Given the description of an element on the screen output the (x, y) to click on. 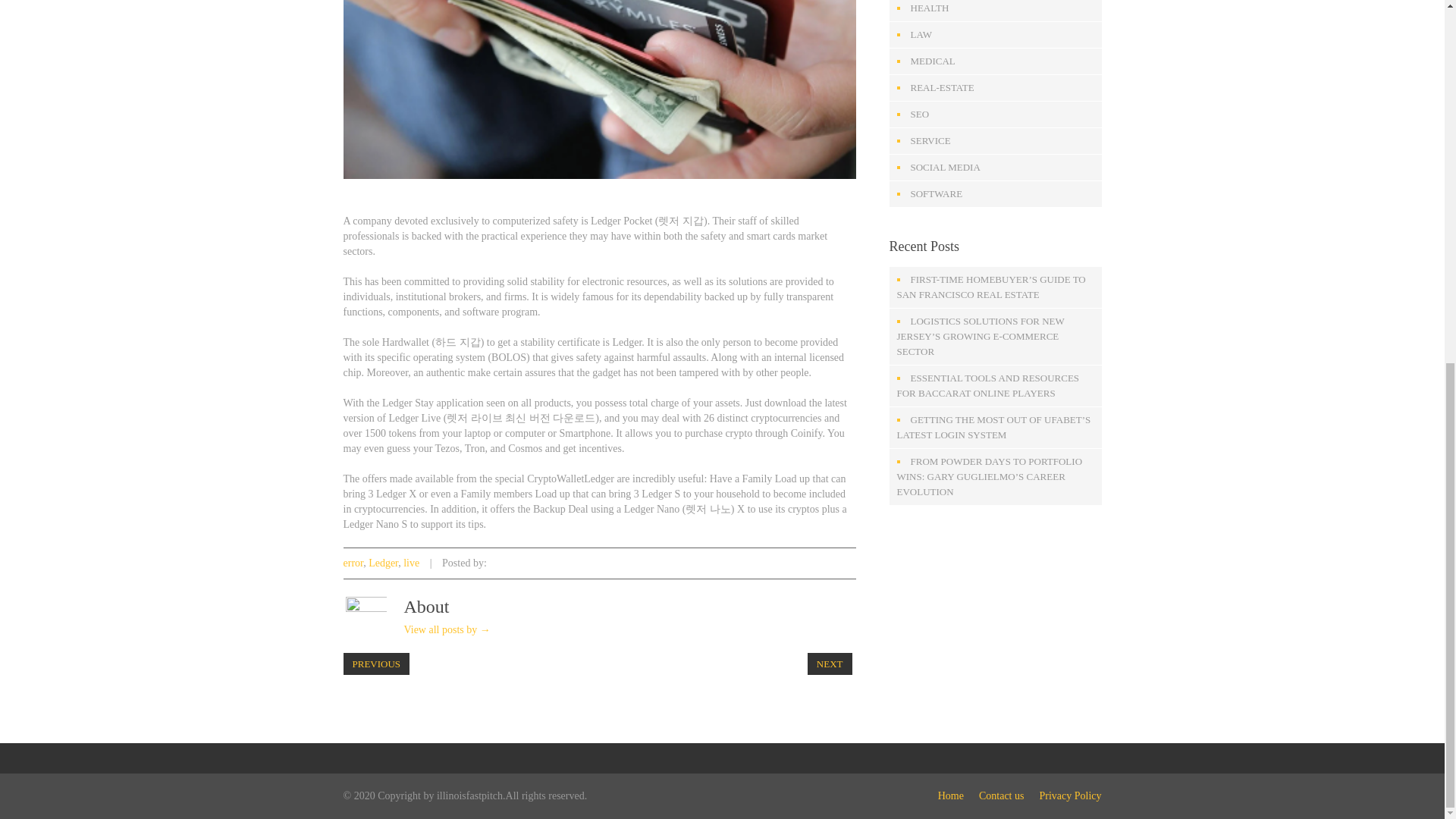
REAL-ESTATE (942, 87)
HEALTH (929, 7)
NEXT (829, 663)
MEDICAL (932, 60)
error (352, 562)
PREVIOUS (375, 663)
live (411, 562)
Ledger (382, 562)
LAW (920, 34)
